Given the description of an element on the screen output the (x, y) to click on. 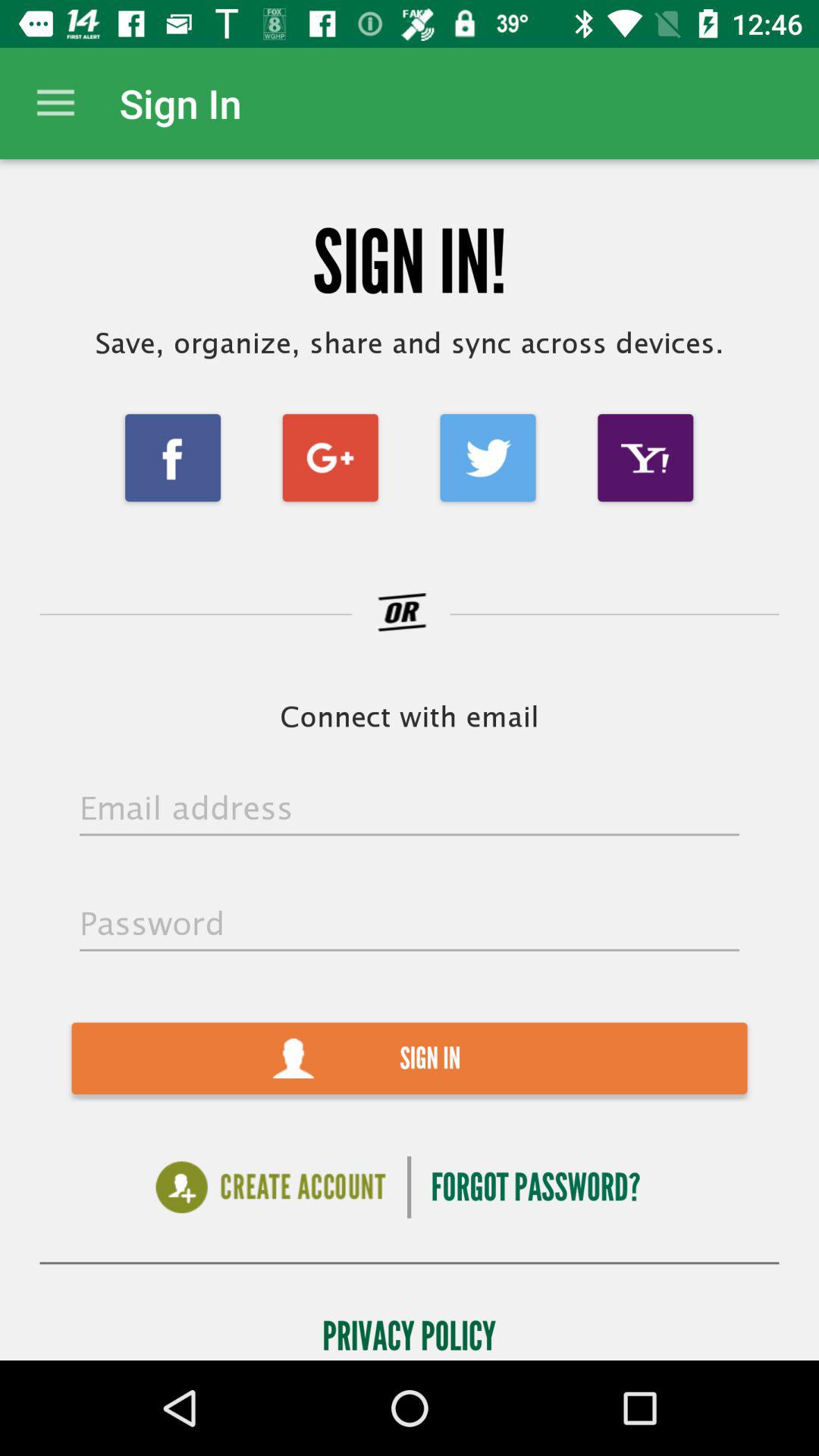
sign in with yahoo (645, 457)
